Given the description of an element on the screen output the (x, y) to click on. 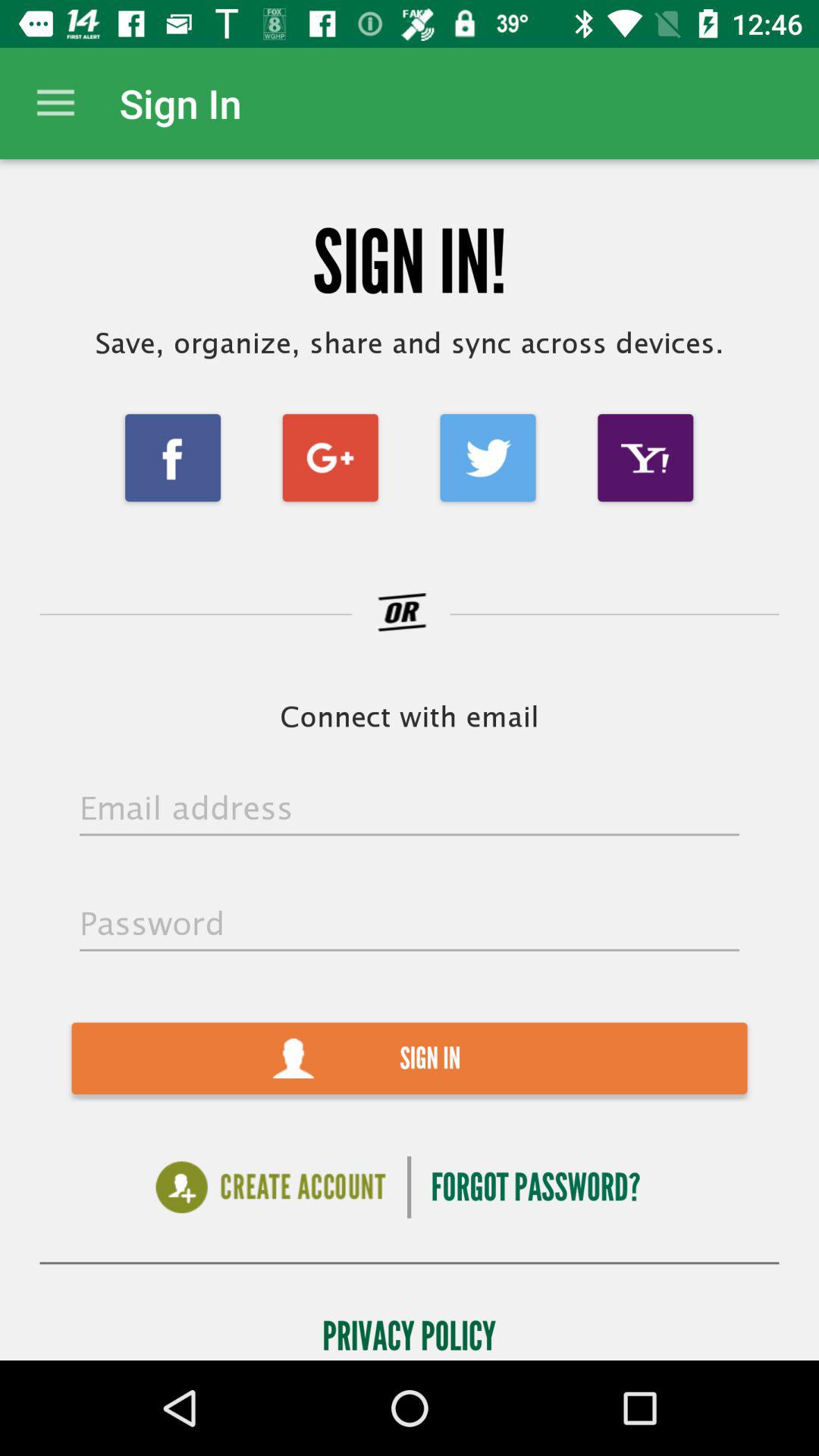
sign in with yahoo (645, 457)
